Given the description of an element on the screen output the (x, y) to click on. 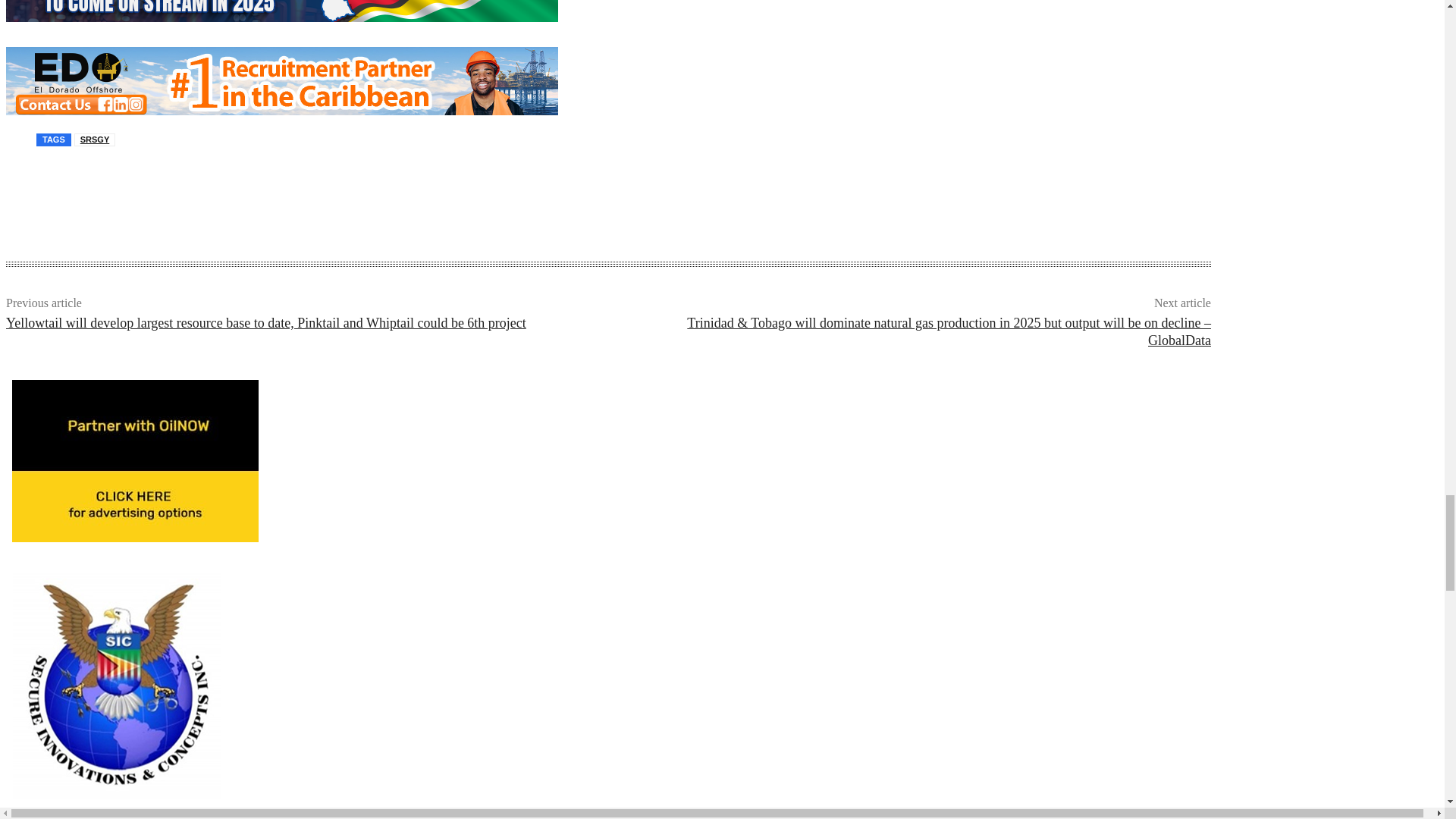
Share article (45, 190)
